Given the description of an element on the screen output the (x, y) to click on. 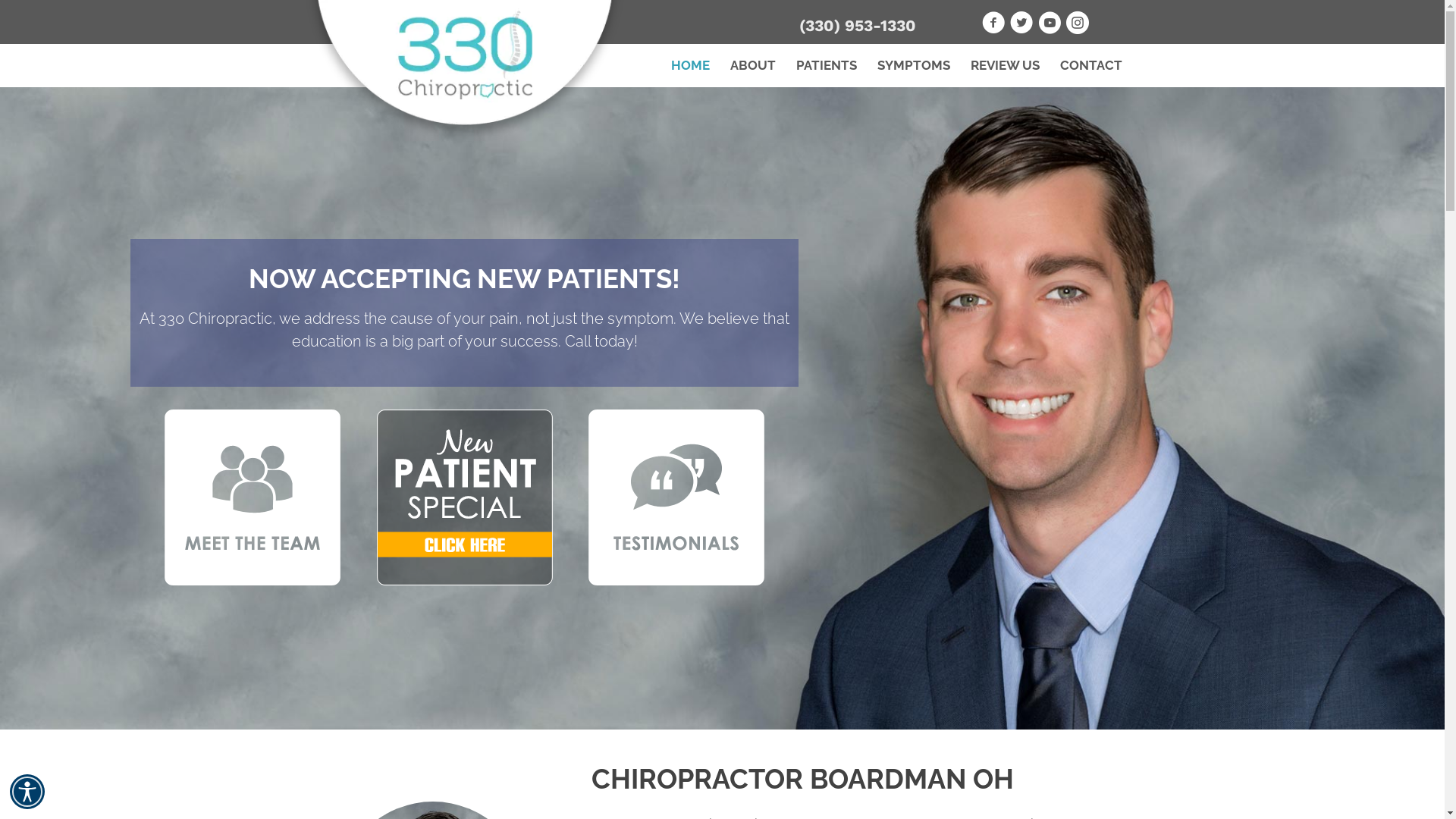
(330) 953-1330 Element type: text (857, 24)
ABOUT Element type: text (752, 65)
REVIEW US Element type: text (1004, 65)
HOME Element type: text (690, 65)
SYMPTOMS Element type: text (913, 65)
Chiropractic Boardman OH 330 Chiropractic Element type: hover (463, 71)
CONTACT Element type: text (1090, 65)
PATIENTS Element type: text (825, 65)
